Given the description of an element on the screen output the (x, y) to click on. 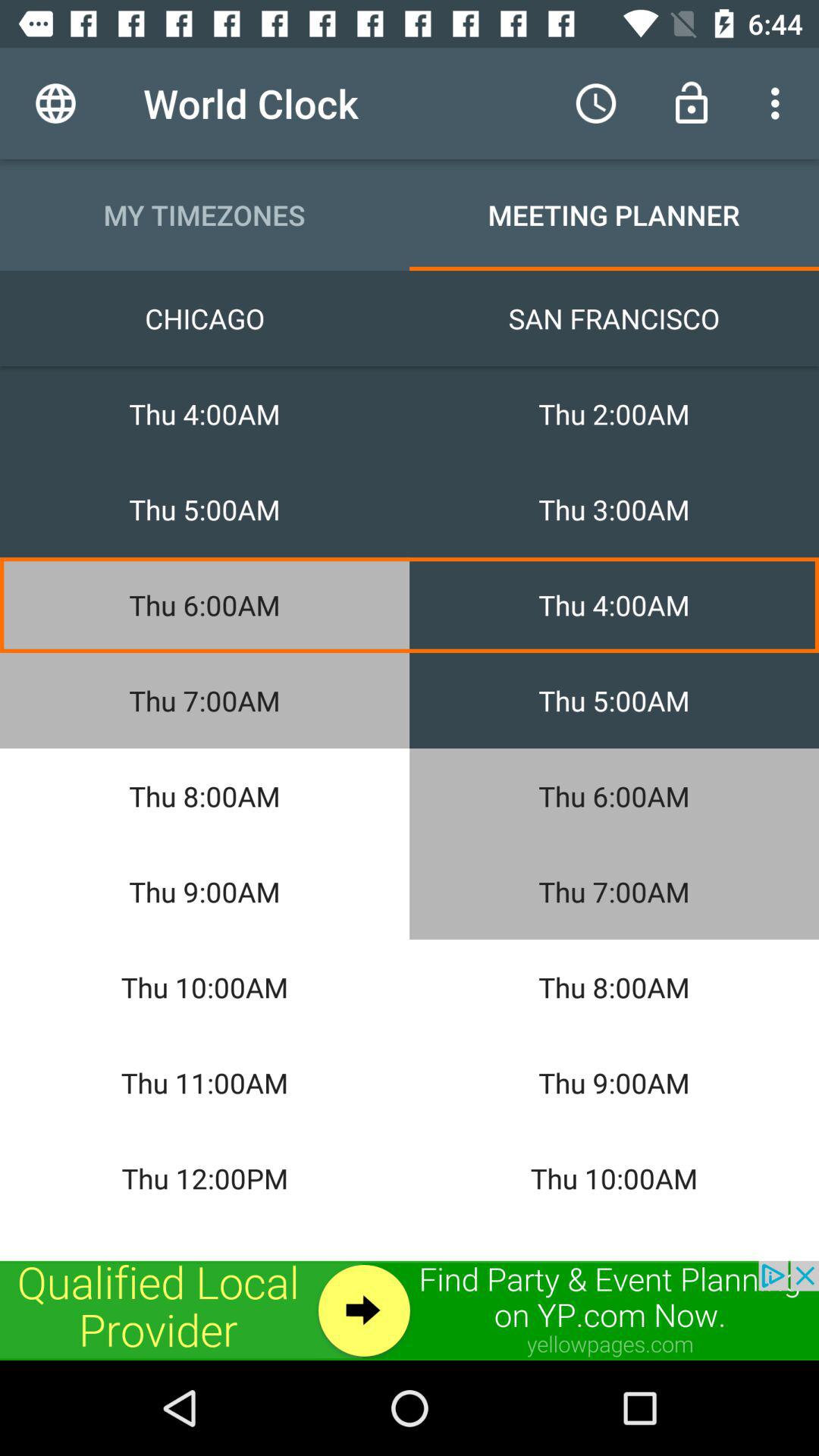
yellowpages.com advertisement (409, 1310)
